Given the description of an element on the screen output the (x, y) to click on. 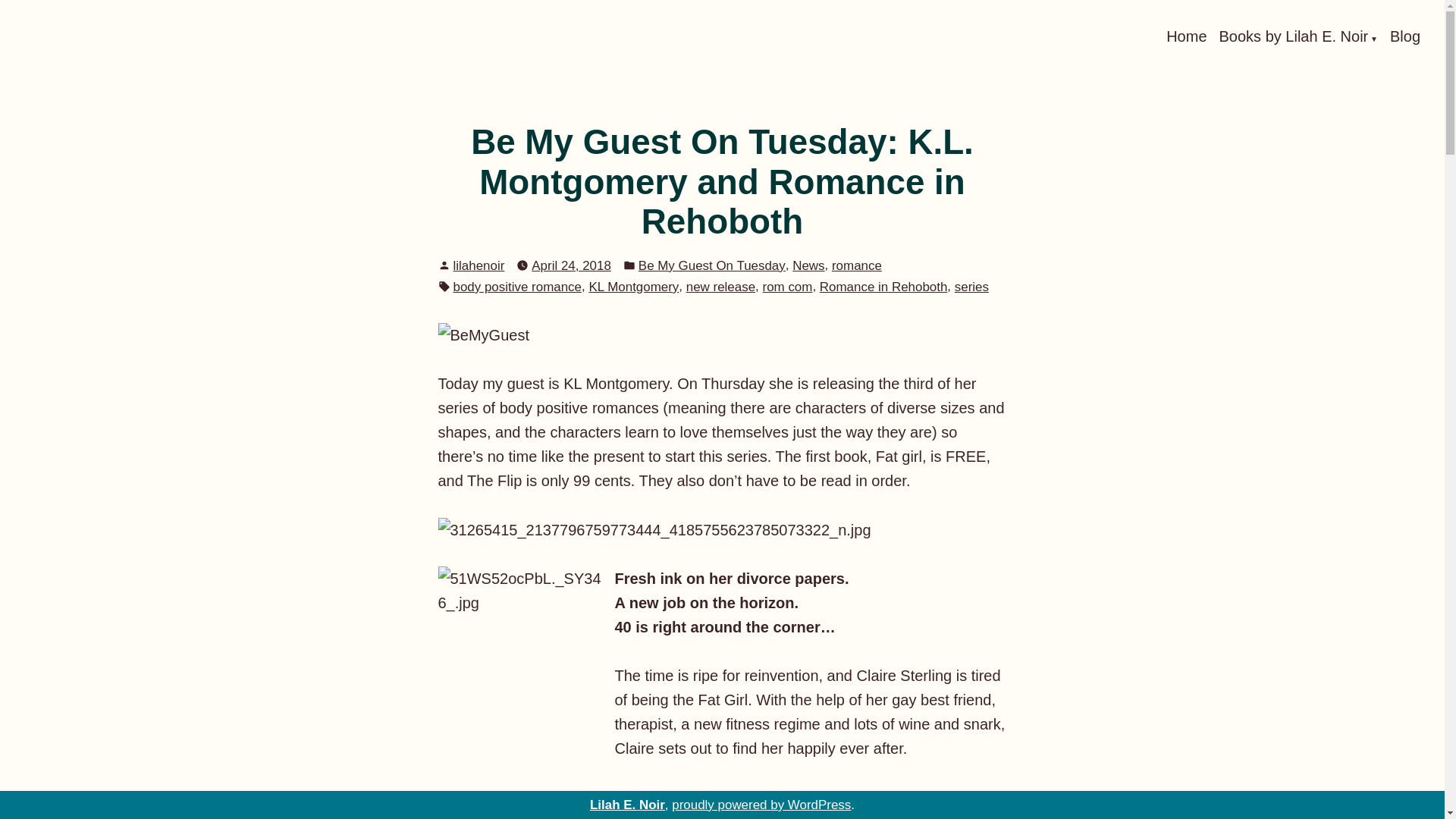
News (808, 265)
April 24, 2018 (571, 265)
Blog (1405, 37)
body positive romance (516, 286)
Books by Lilah E. Noir (1298, 37)
Home (1186, 37)
KL Montgomery (633, 286)
series (971, 286)
Be My Guest On Tuesday (712, 265)
lilahenoir (478, 265)
new release (720, 286)
rom com (787, 286)
Romance in Rehoboth (883, 286)
romance (856, 265)
